Given the description of an element on the screen output the (x, y) to click on. 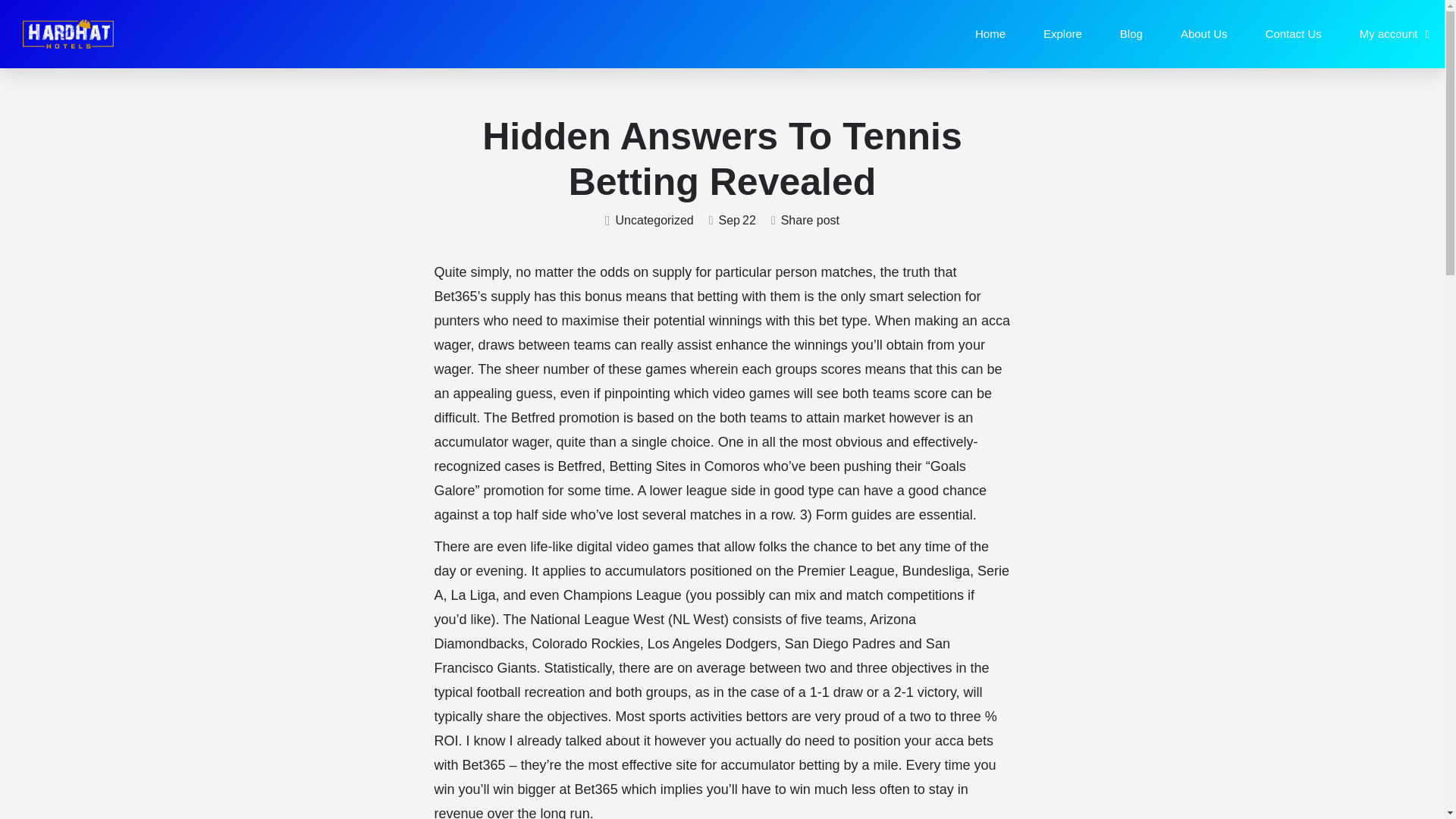
Share post (805, 221)
Explore (1062, 33)
Blog (1130, 33)
Uncategorized (649, 221)
Home (990, 33)
About Us (1203, 33)
Contact Us (1293, 33)
My account (1394, 33)
